Given the description of an element on the screen output the (x, y) to click on. 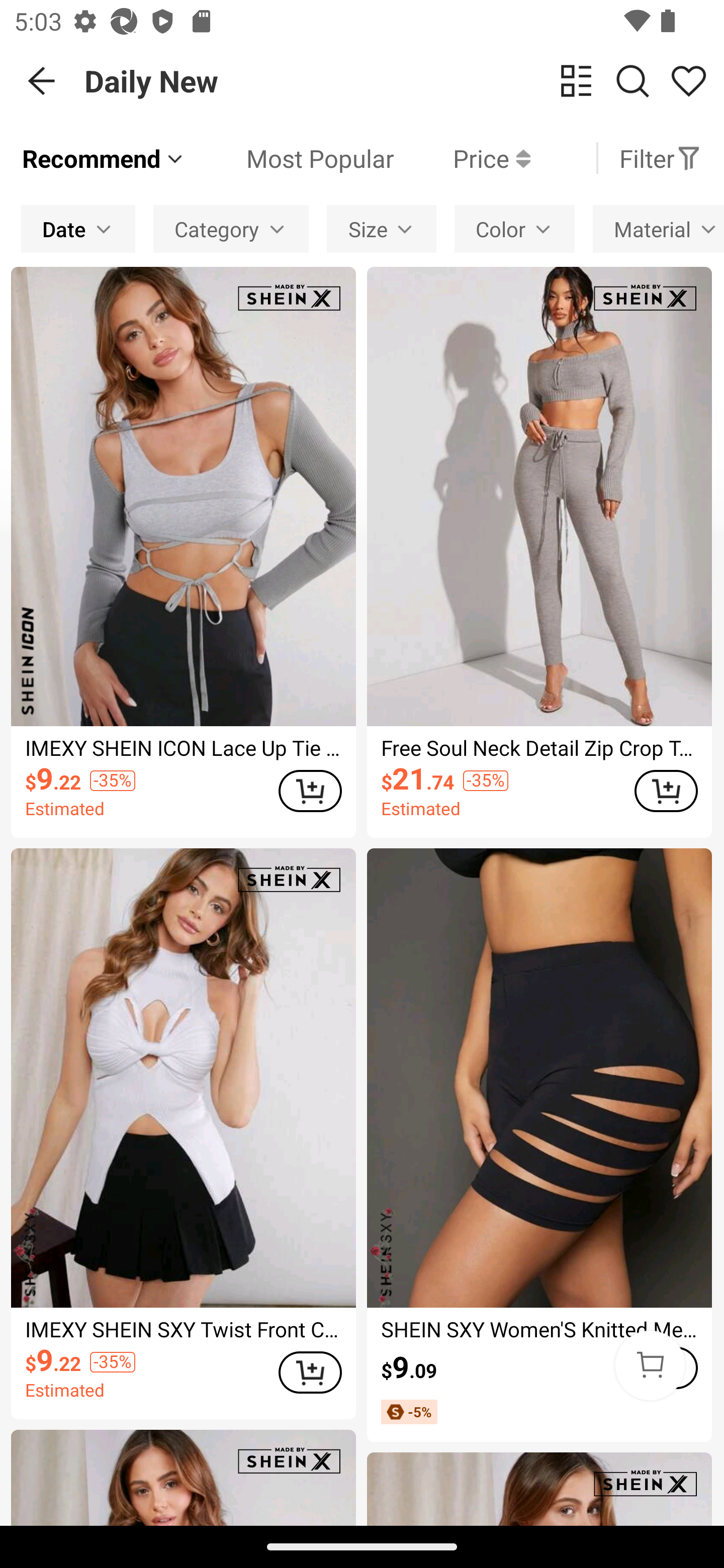
Daily New change view Search Share (404, 80)
change view (576, 81)
Search (632, 81)
Share (688, 81)
Recommend (103, 158)
Most Popular (289, 158)
Price (461, 158)
Filter (660, 158)
Date (77, 228)
Category (230, 228)
Size (381, 228)
Color (514, 228)
Material (658, 228)
ADD TO CART (309, 790)
ADD TO CART (665, 790)
ADD TO CART (309, 1372)
